Given the description of an element on the screen output the (x, y) to click on. 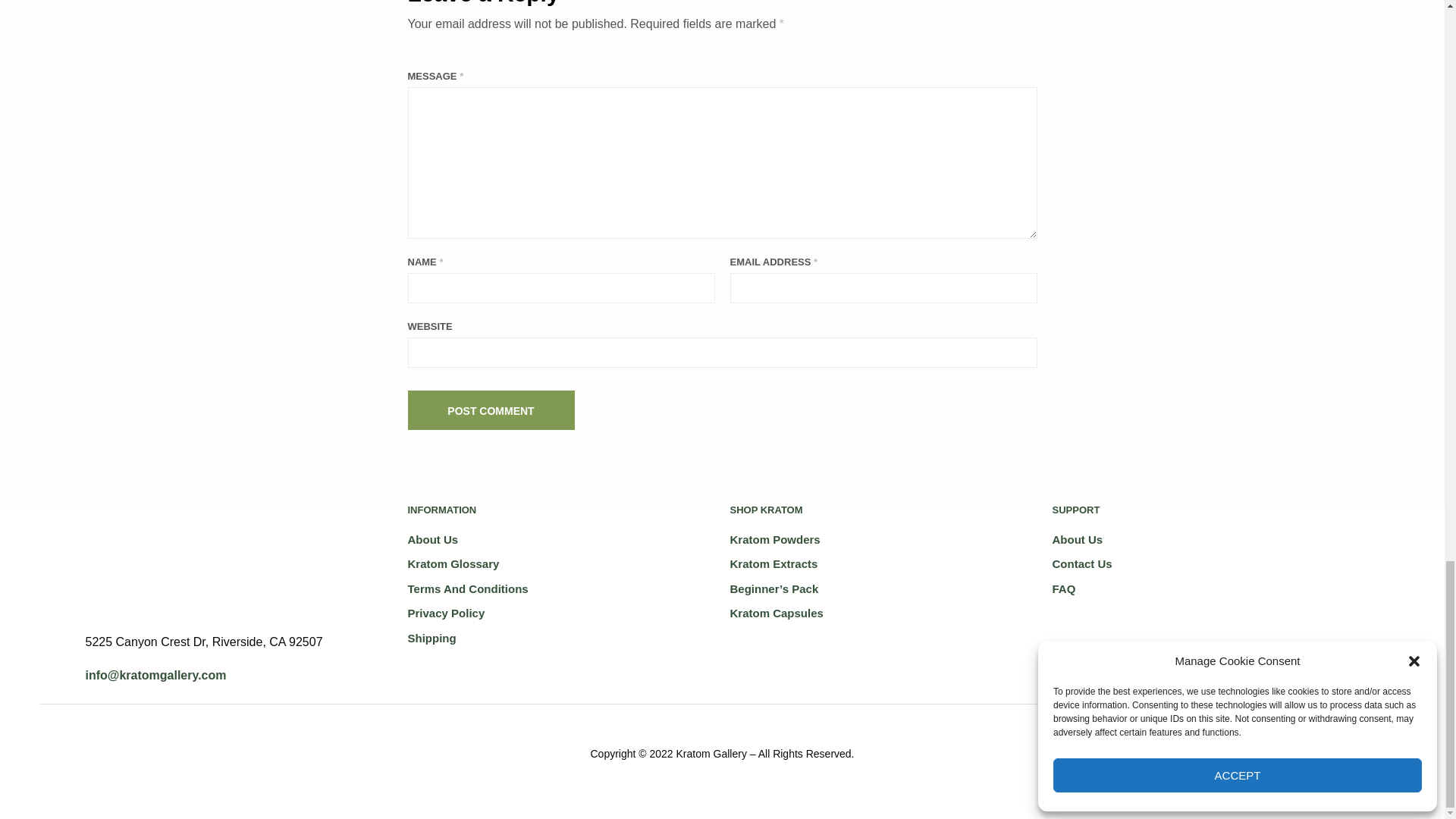
Post Comment (491, 410)
